Given the description of an element on the screen output the (x, y) to click on. 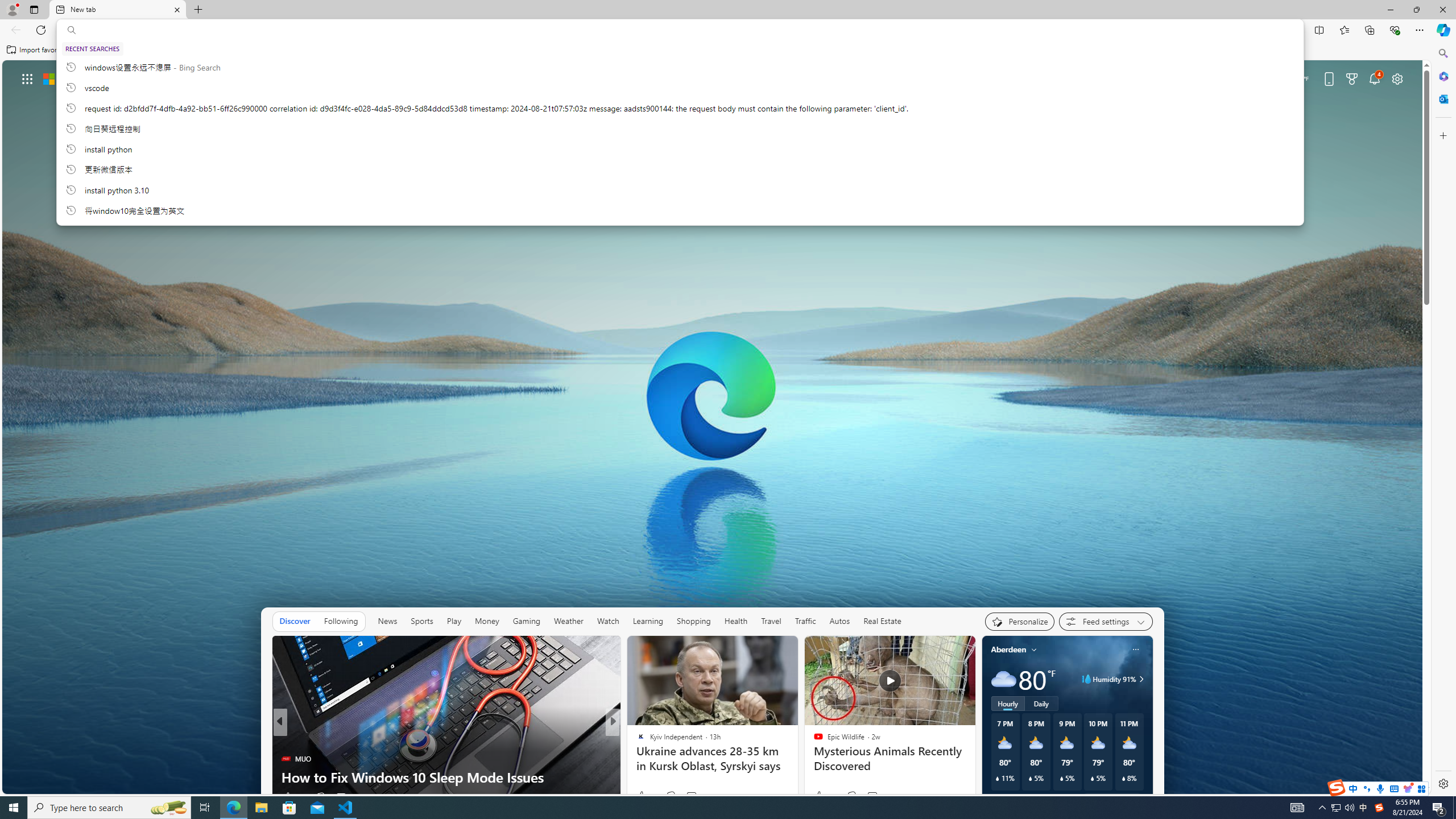
Autos (839, 621)
See full forecast (1112, 799)
View comments 382 Comment (698, 796)
Learning (648, 621)
5k Like (641, 796)
Import favorites (36, 49)
LinkedIn (760, 206)
Enter your search term (714, 155)
